Given the description of an element on the screen output the (x, y) to click on. 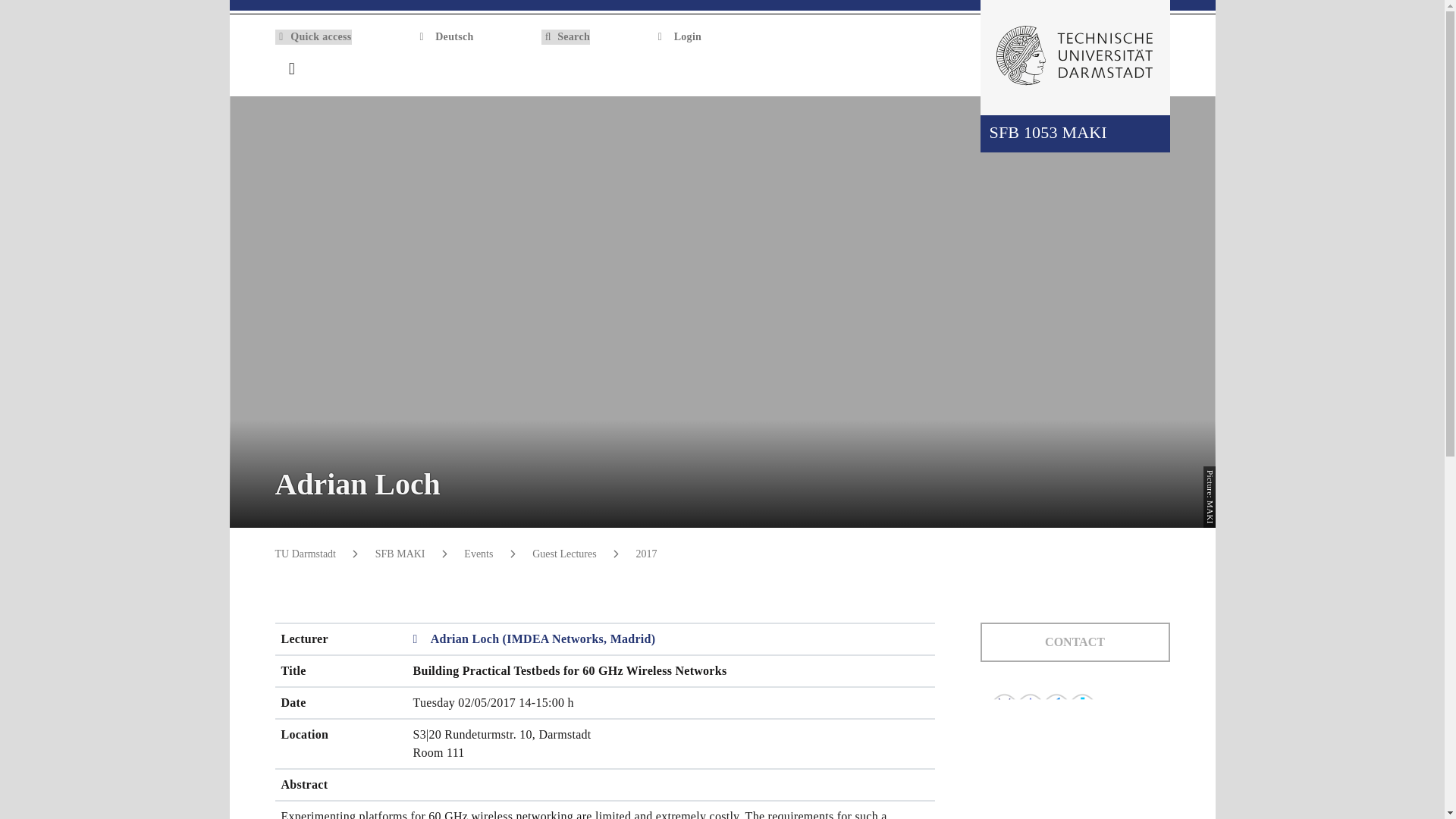
Home of institution (1160, 69)
Go to home of TU Darmstadt (1074, 57)
SFB 1053 MAKI (1074, 133)
Skip menu (13, 5)
Login (679, 36)
Home of institution (1160, 69)
Quick access (312, 37)
Deutsch (446, 36)
Search (565, 37)
Open search panel (1128, 69)
